Given the description of an element on the screen output the (x, y) to click on. 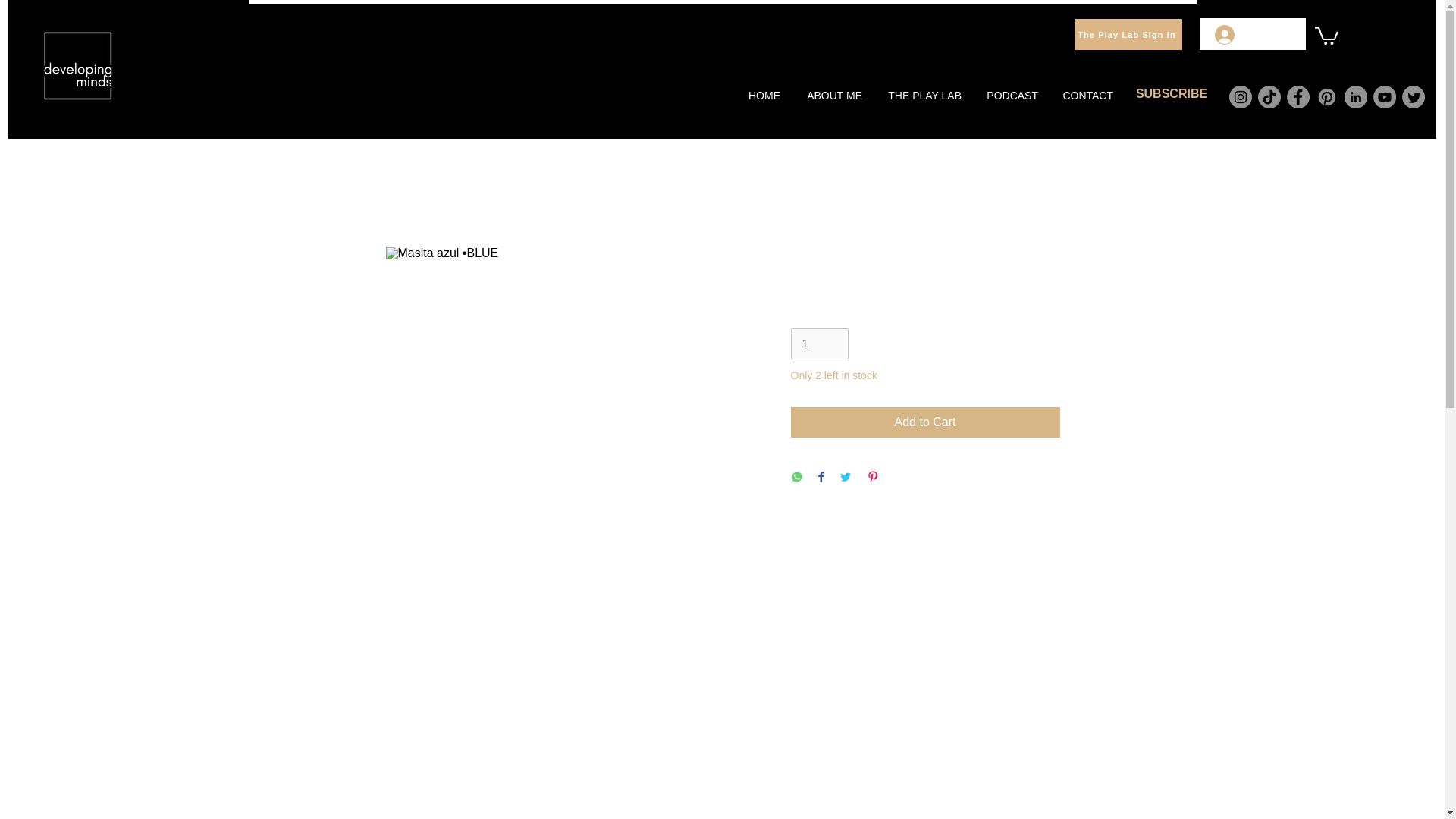
The Play Lab Sign In (1128, 33)
Log In (1246, 33)
ABOUT ME (832, 95)
HOME (763, 95)
CONTACT (1086, 95)
1 (818, 343)
SUBSCRIBE (1171, 92)
Add to Cart (924, 422)
